Given the description of an element on the screen output the (x, y) to click on. 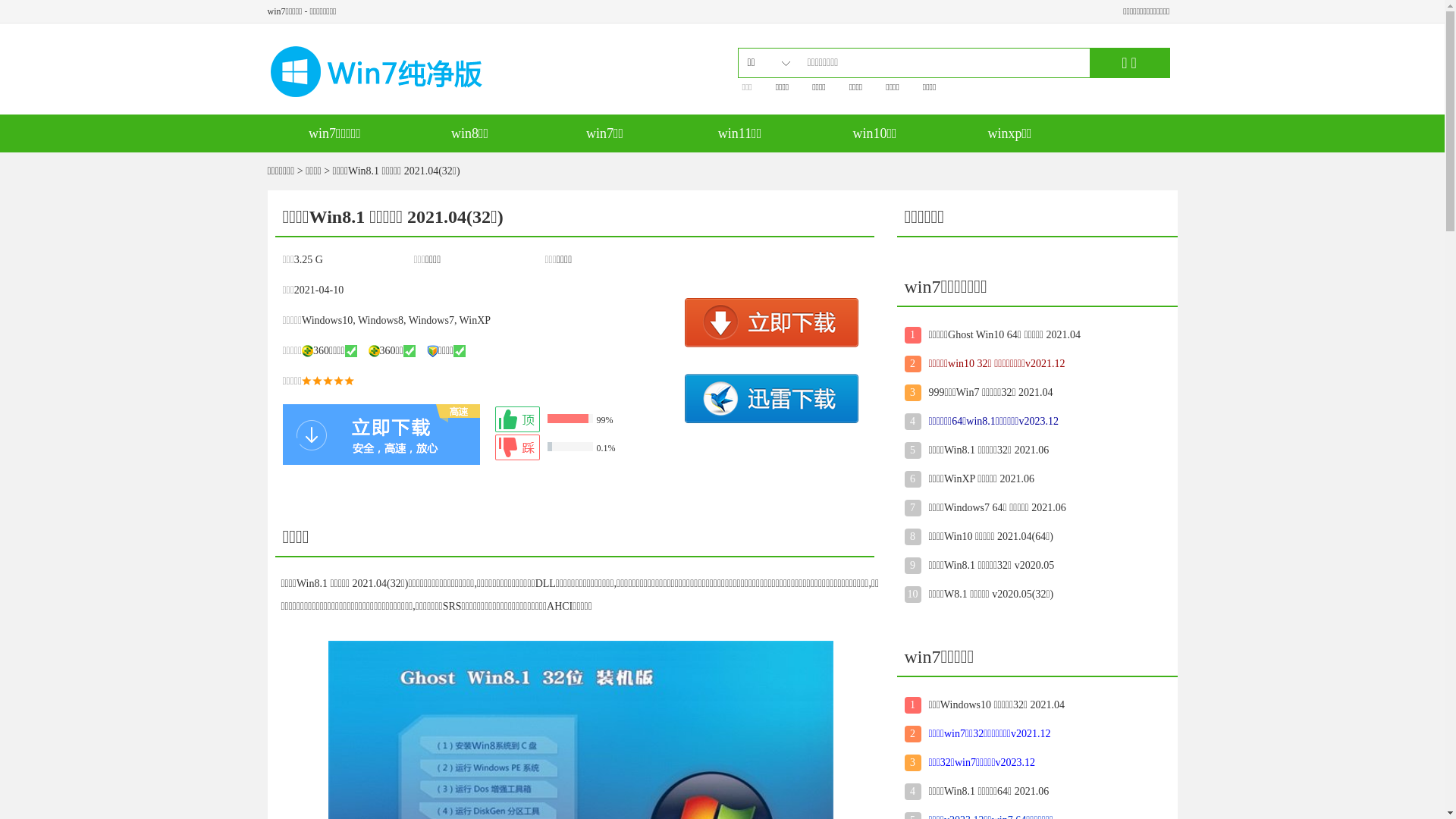
99% Element type: text (585, 419)
0.1% Element type: text (585, 447)
